Given the description of an element on the screen output the (x, y) to click on. 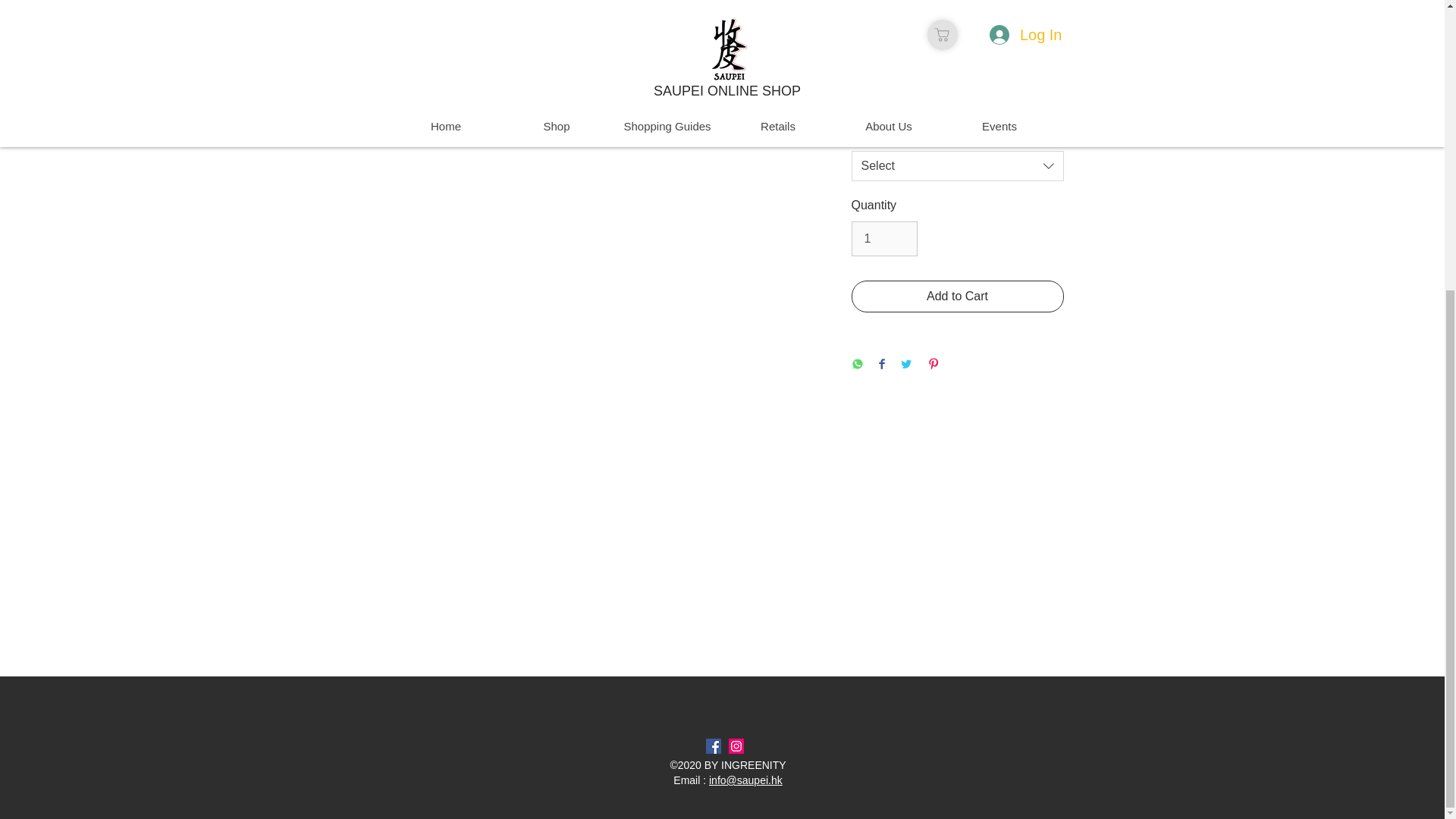
Add to Cart (956, 296)
1 (883, 238)
Select (956, 165)
